Given the description of an element on the screen output the (x, y) to click on. 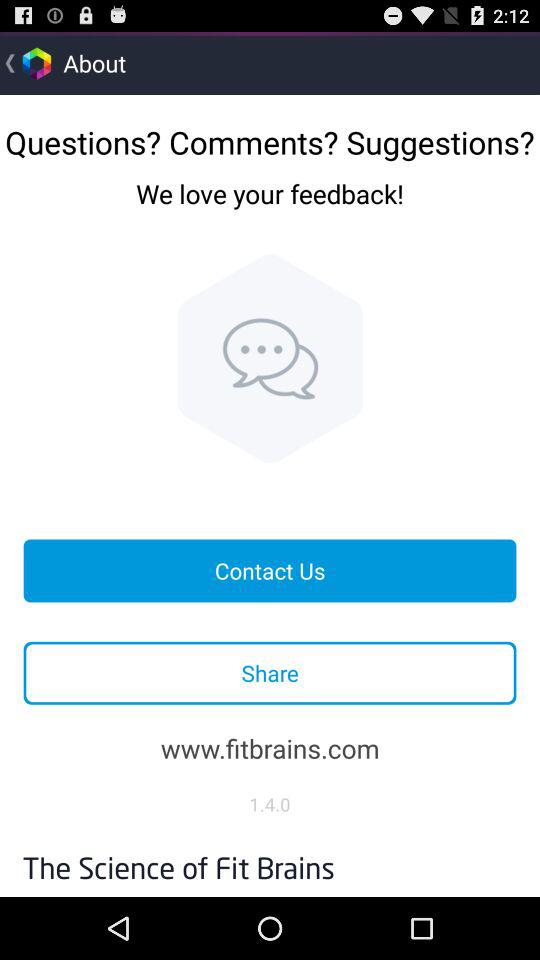
swipe to the share item (269, 672)
